Given the description of an element on the screen output the (x, y) to click on. 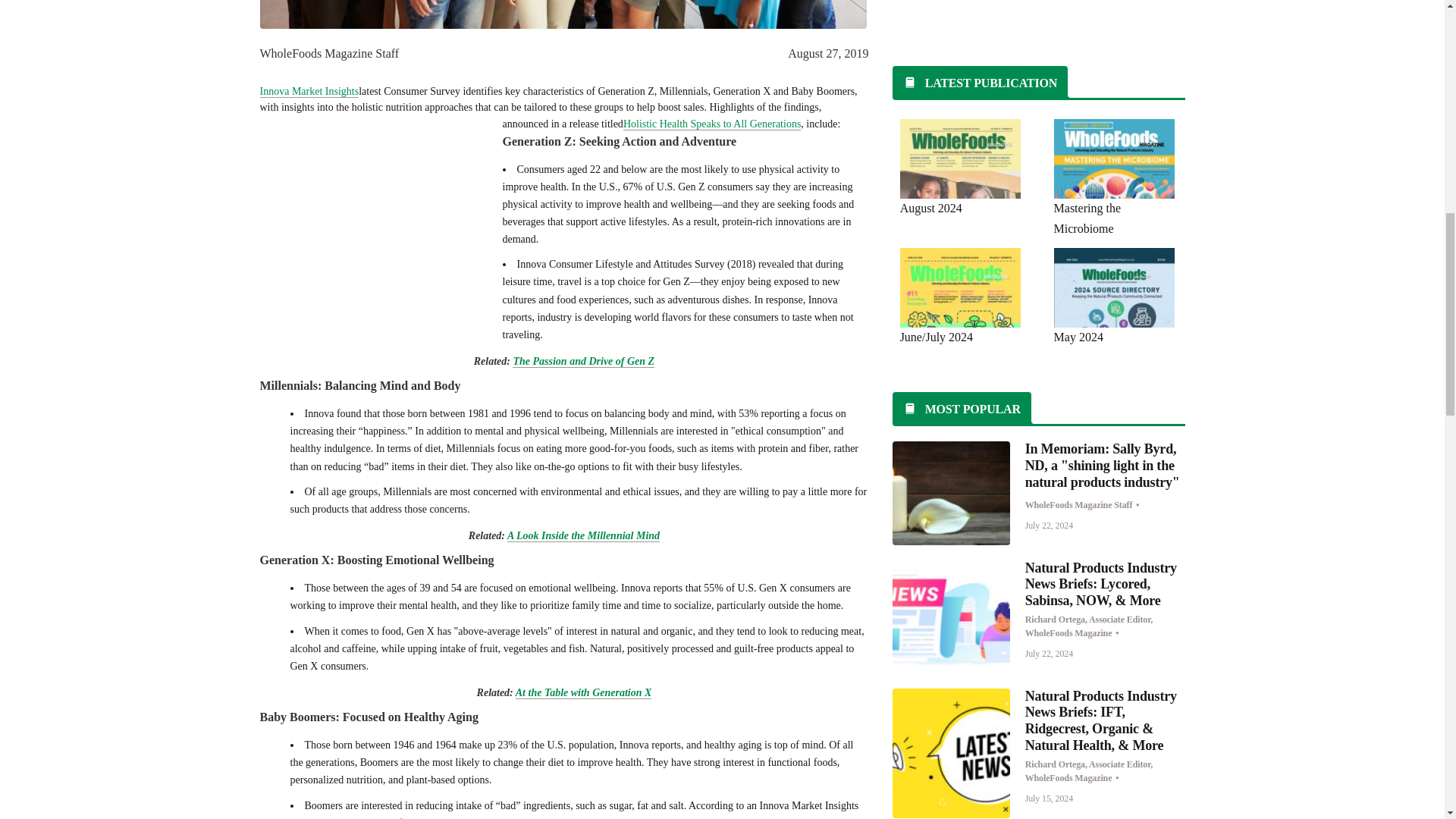
3rd party ad content (1038, 18)
GettyImages-2015489526.jpg (951, 753)
3rd party ad content (372, 226)
GettyImages-1254640127.jpg (951, 616)
